Given the description of an element on the screen output the (x, y) to click on. 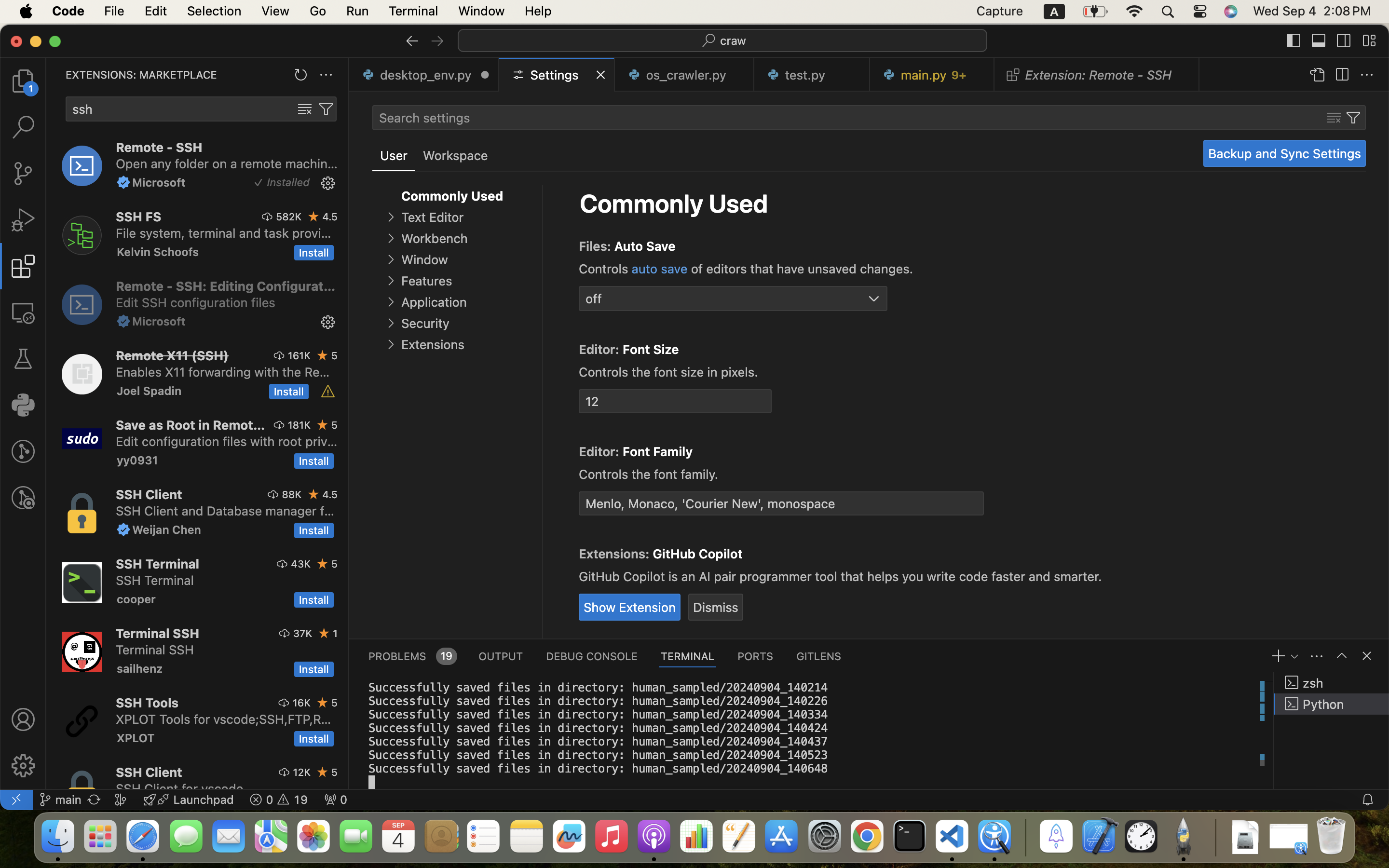
 Element type: AXCheckBox (1293, 40)
Kelvin Schoofs Element type: AXStaticText (157, 251)
 Element type: AXGroup (23, 719)
 Element type: AXStaticText (1366, 74)
Remote - SSH: Editing Configuration Files Element type: AXStaticText (225, 285)
